Given the description of an element on the screen output the (x, y) to click on. 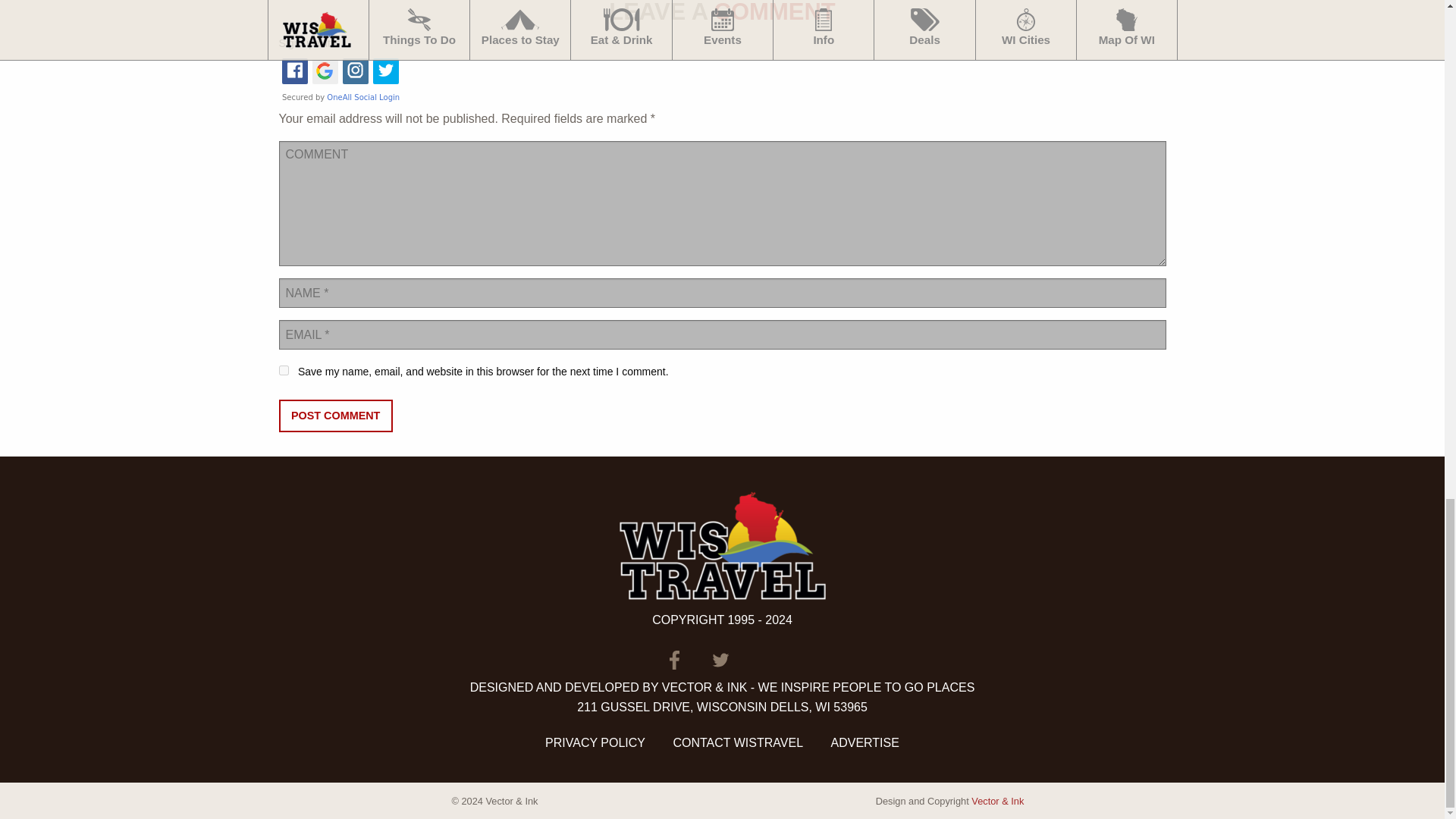
Post Comment (336, 415)
yes (283, 370)
Login with Social Networks (722, 79)
